Given the description of an element on the screen output the (x, y) to click on. 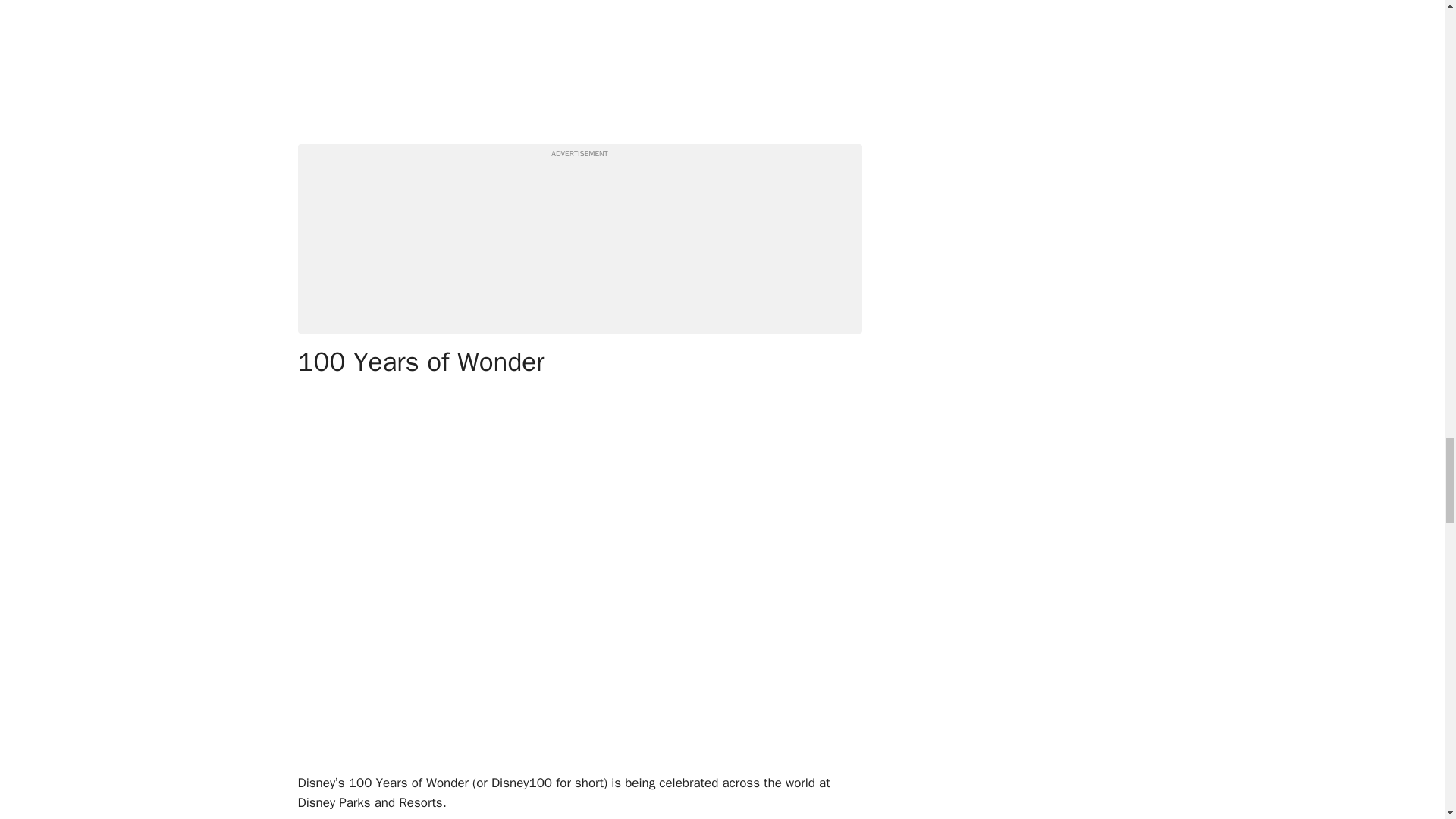
YouTube player (579, 65)
